Given the description of an element on the screen output the (x, y) to click on. 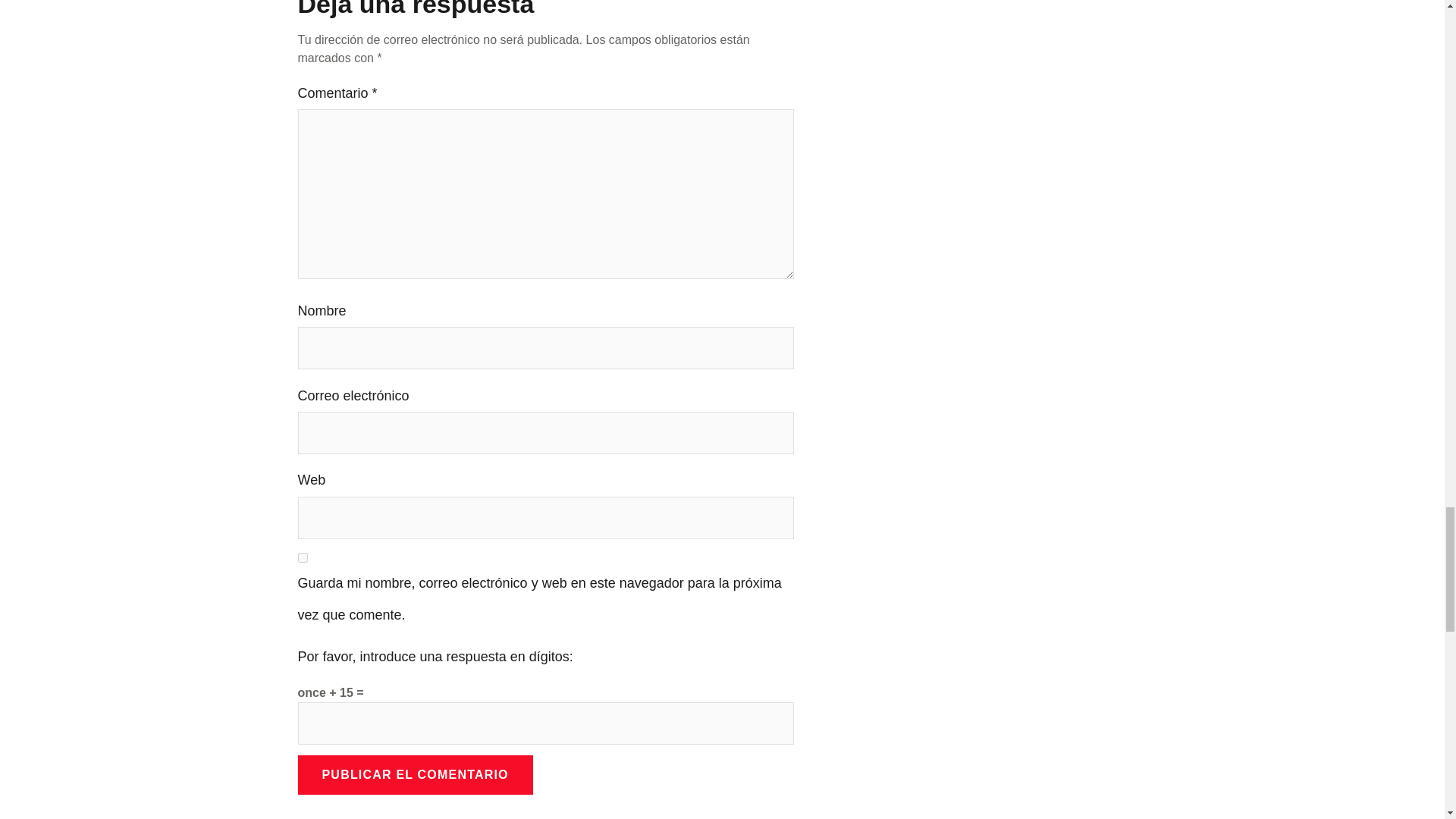
Publicar el comentario (414, 774)
yes (302, 557)
